Given the description of an element on the screen output the (x, y) to click on. 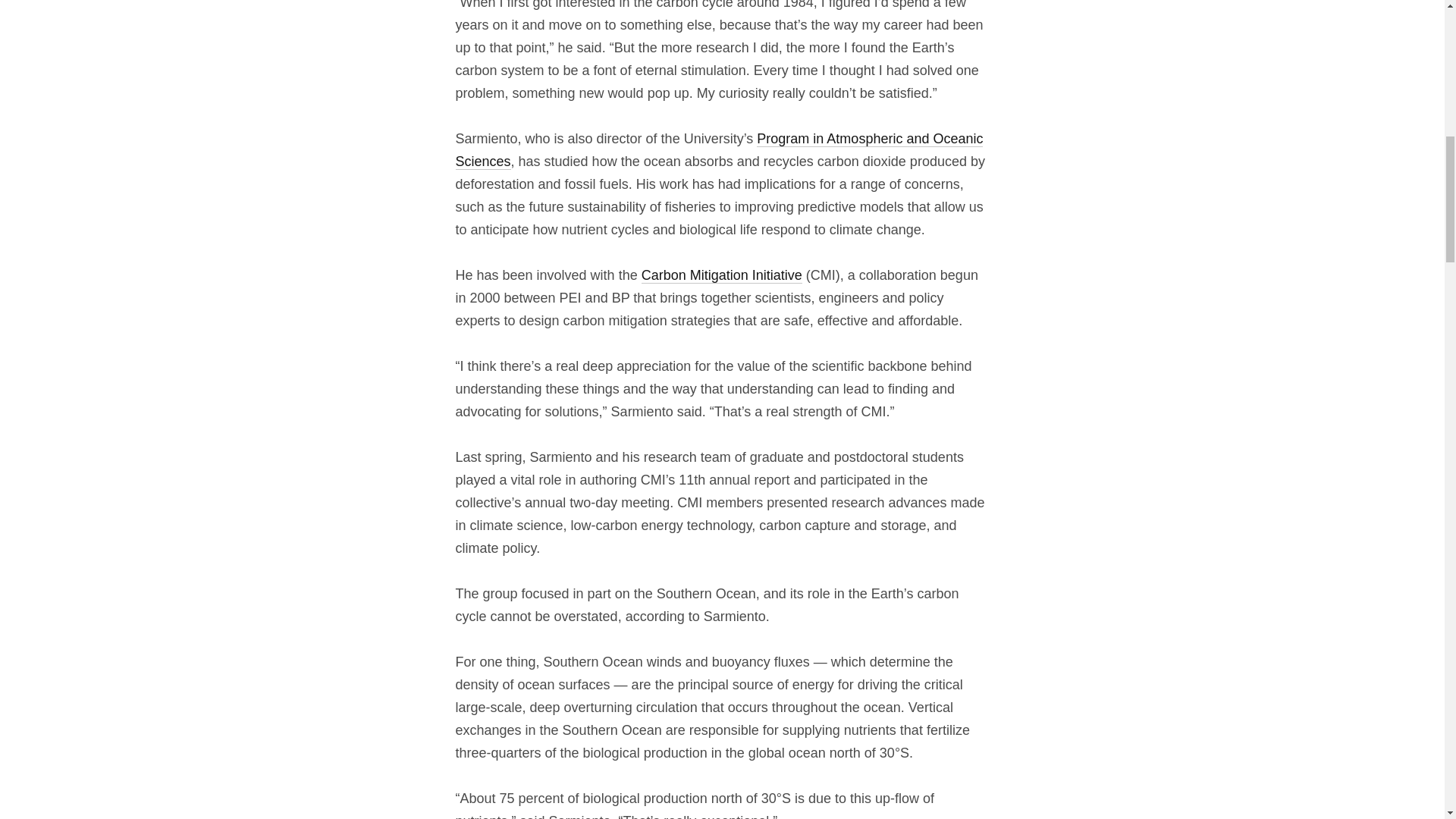
Program in Atmospheric and Oceanic Sciences (718, 150)
Carbon Mitigation Initiative (722, 275)
